Given the description of an element on the screen output the (x, y) to click on. 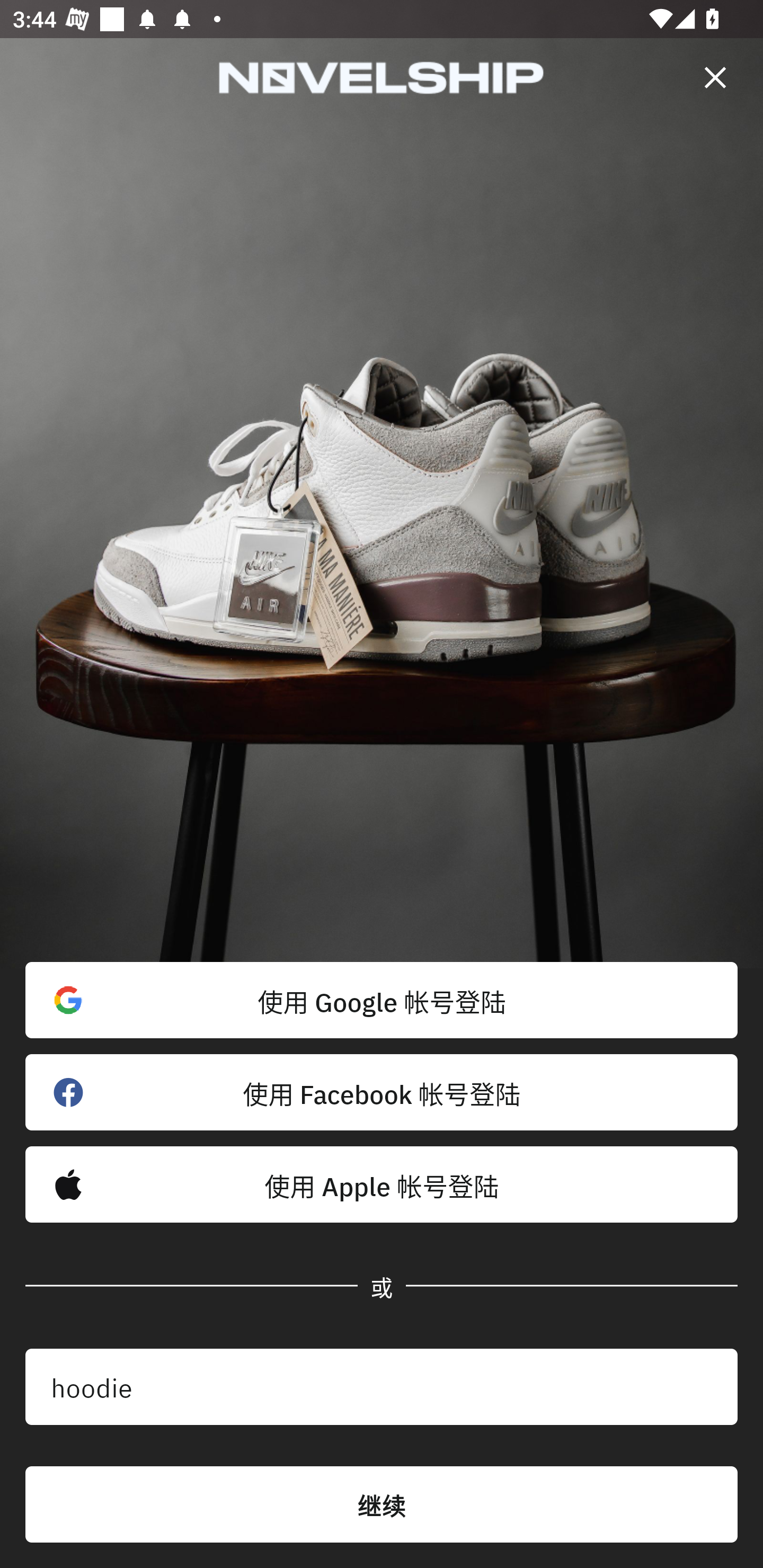
使用 Google 帐号登陆 (381, 1000)
使用 Facebook 帐号登陆 󰈌 (381, 1091)
 使用 Apple 帐号登陆 (381, 1184)
hoodie (381, 1386)
继续 (381, 1504)
